Given the description of an element on the screen output the (x, y) to click on. 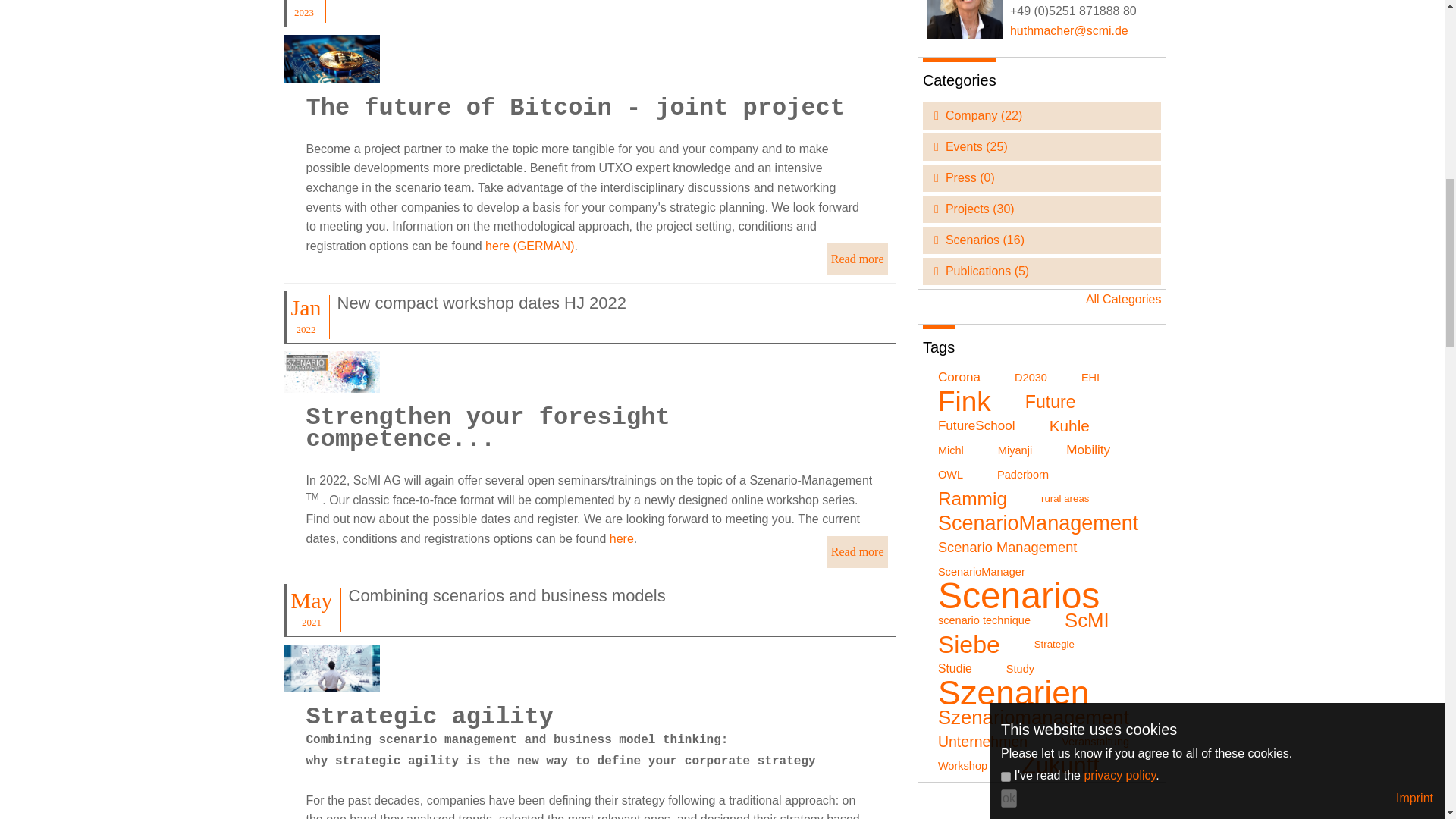
5 items tagged with Mobility (1084, 450)
8 items tagged with Kuhle (1065, 425)
3 items tagged with Miyanji (1010, 450)
10 items tagged with Future (1046, 401)
5 items tagged with FutureSchool (973, 425)
3 items tagged with Michl (947, 450)
3 items tagged with D2030 (1026, 377)
5 items tagged with Corona (955, 377)
21 items tagged with Fink (960, 401)
3 items tagged with EHI (1085, 377)
